Given the description of an element on the screen output the (x, y) to click on. 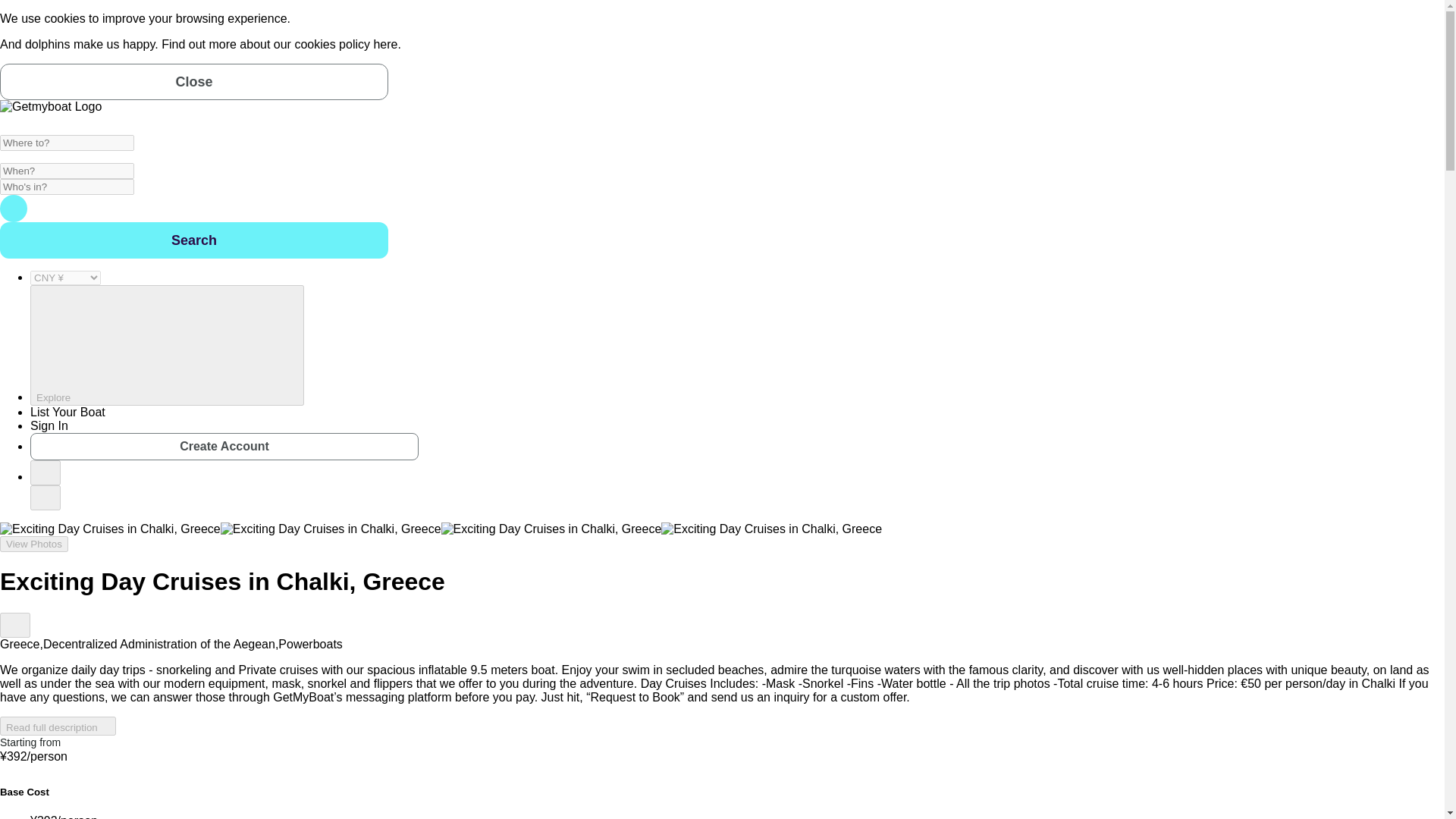
View Photos (34, 544)
Close (194, 81)
Search (13, 207)
Decentralized Administration of the Aegean (159, 644)
Sign In (49, 425)
cookies policy here (345, 43)
Create Account (224, 446)
Greece (19, 644)
Read full description (58, 725)
Search (194, 239)
